Given the description of an element on the screen output the (x, y) to click on. 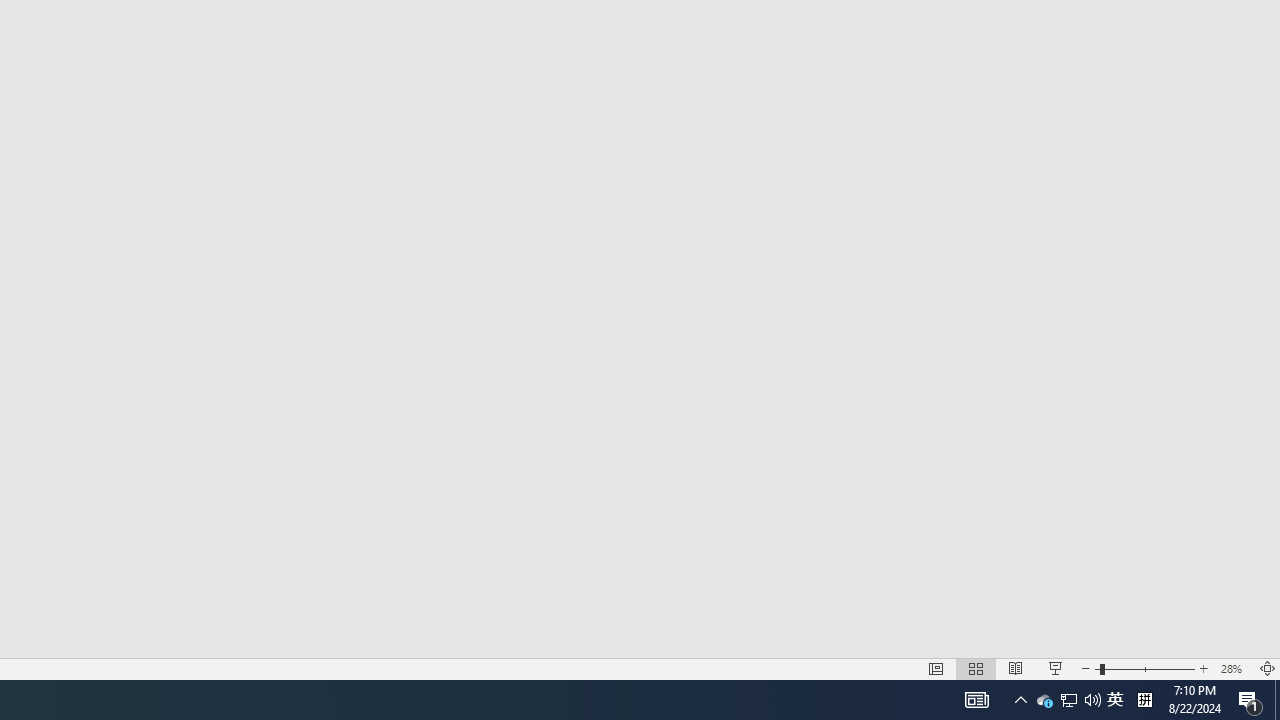
Zoom 28% (1234, 668)
